Given the description of an element on the screen output the (x, y) to click on. 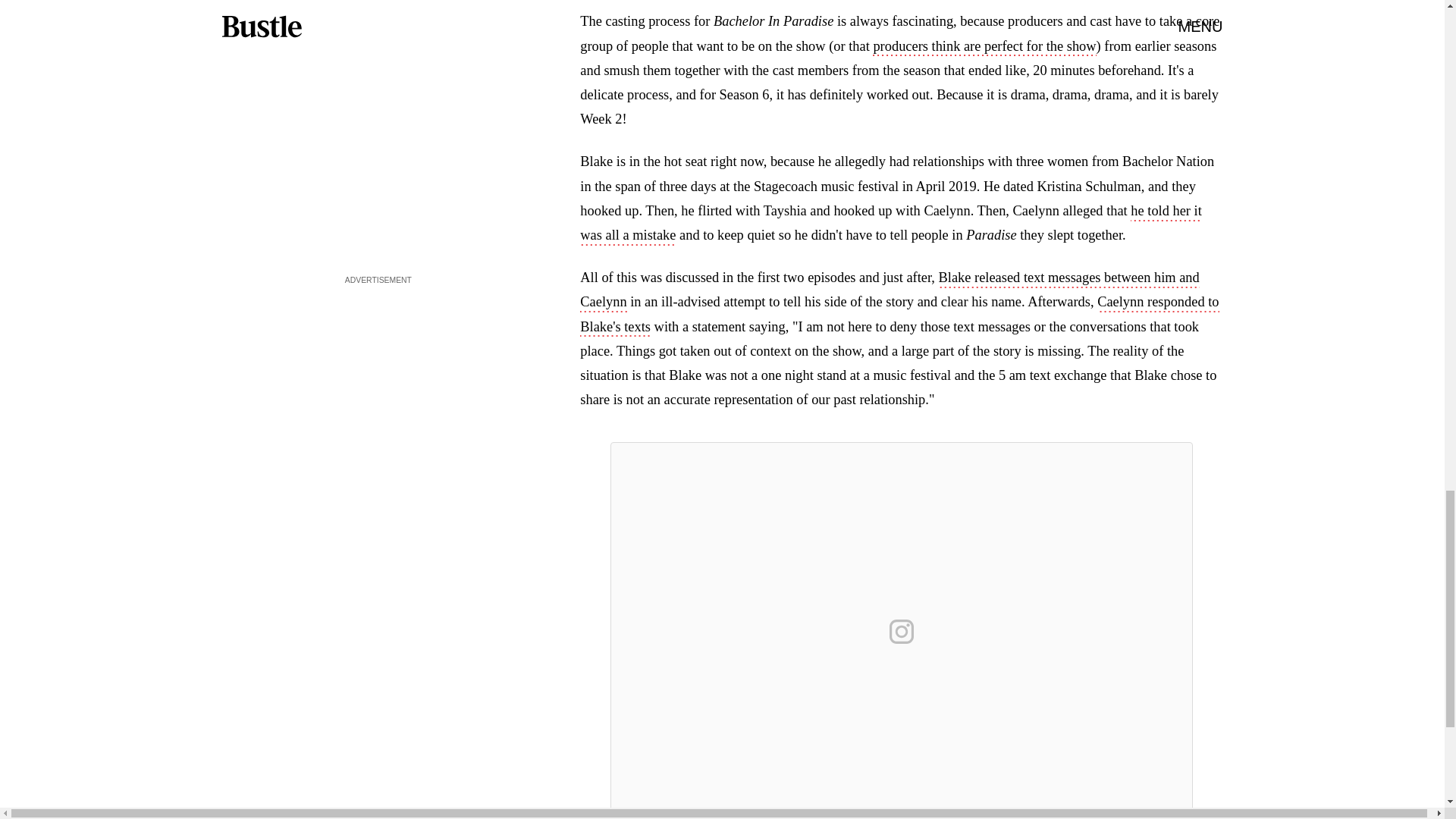
View on Instagram (901, 631)
producers think are perfect for the show (984, 47)
Caelynn responded to Blake's texts (898, 315)
he told her it was all a mistake (890, 224)
Blake released text messages between him and Caelynn (888, 291)
